Given the description of an element on the screen output the (x, y) to click on. 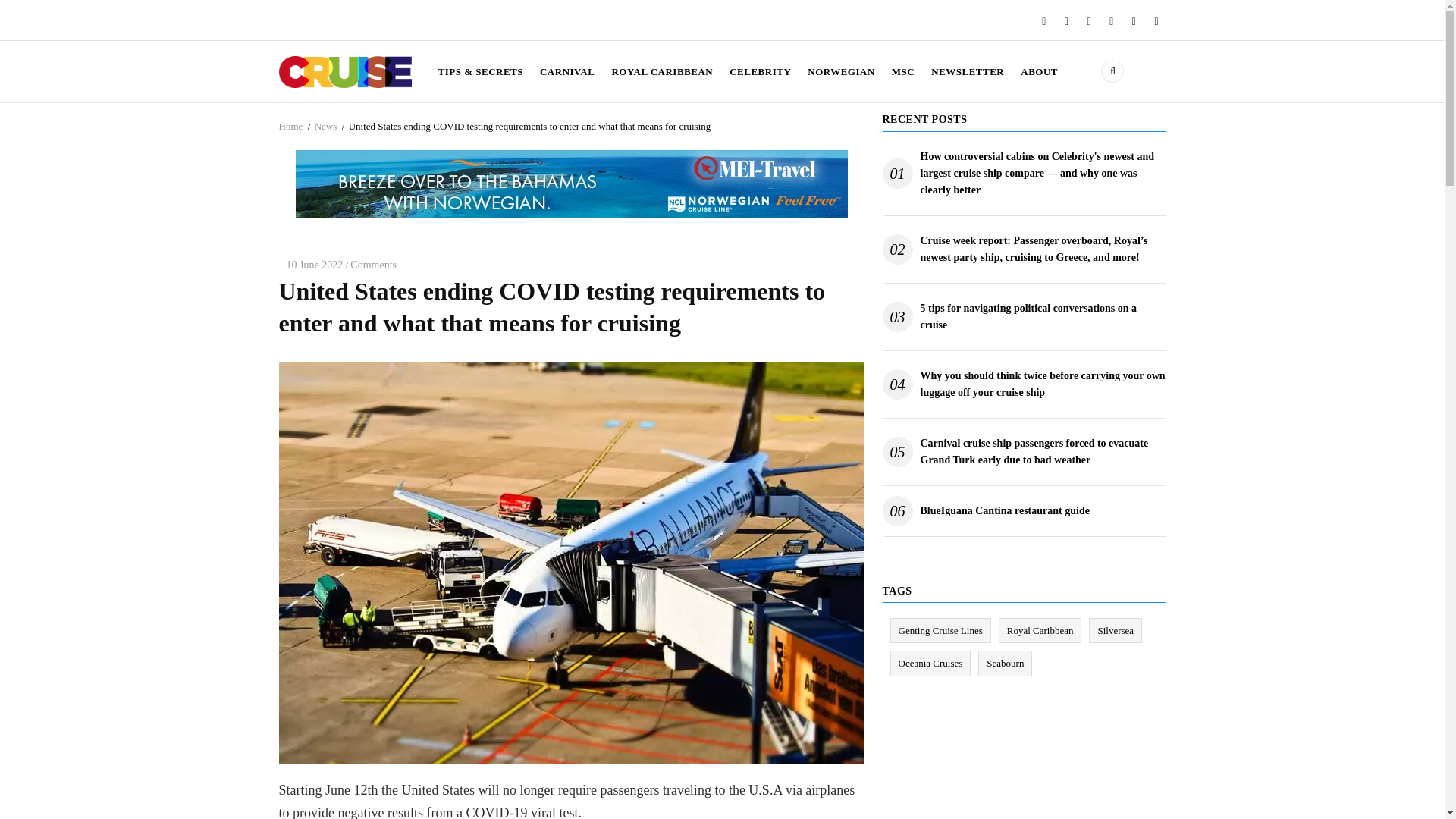
NEWSLETTER (967, 71)
CELEBRITY (759, 71)
ROYAL CARIBBEAN (661, 71)
Home (345, 70)
CARNIVAL (566, 71)
Home (290, 125)
Search (1044, 153)
NORWEGIAN (841, 71)
News (325, 125)
